Given the description of an element on the screen output the (x, y) to click on. 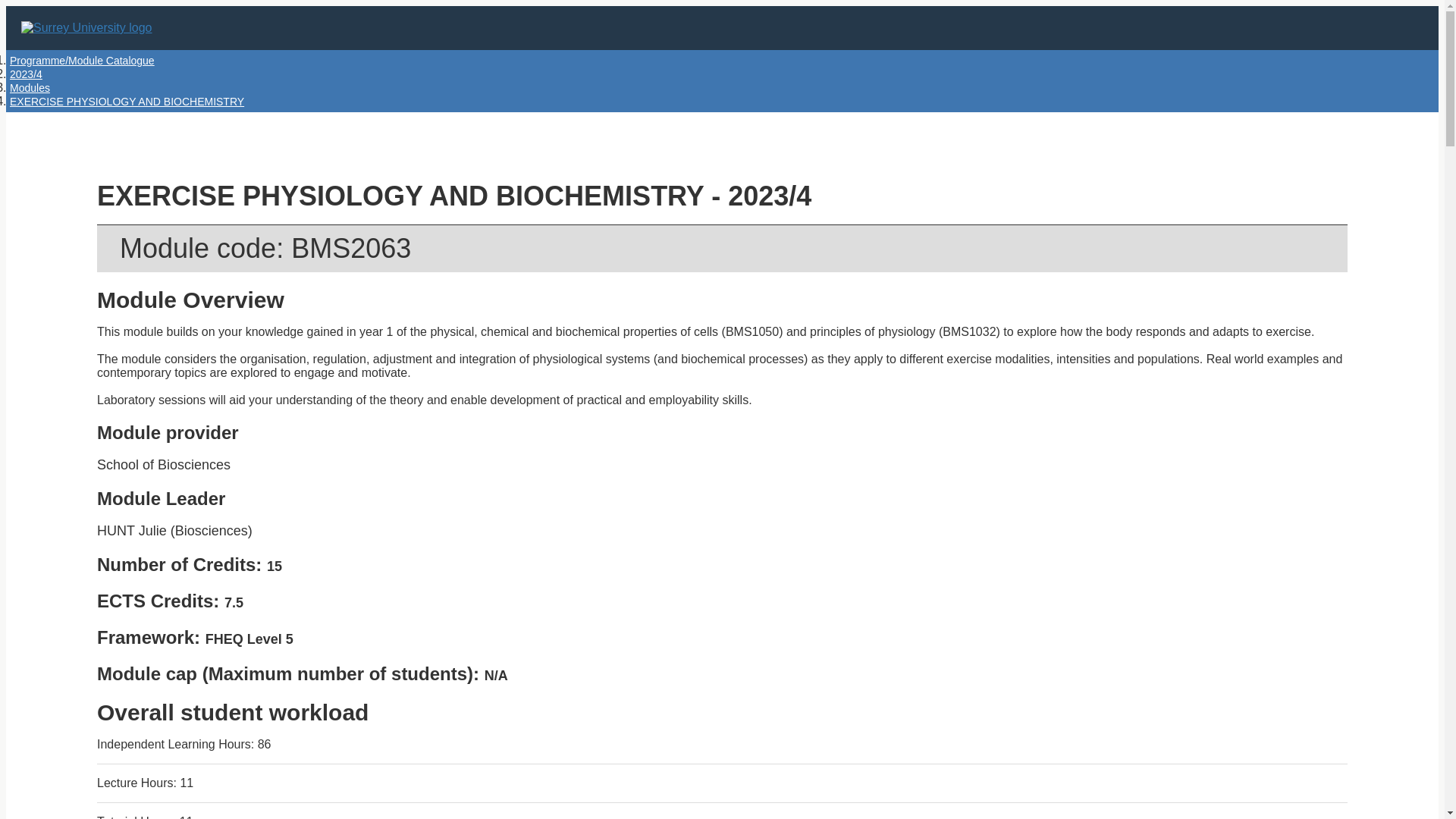
Surrey University, Module Catalogue Homepage (89, 28)
EXERCISE PHYSIOLOGY AND BIOCHEMISTRY (127, 101)
Modules (29, 87)
